Given the description of an element on the screen output the (x, y) to click on. 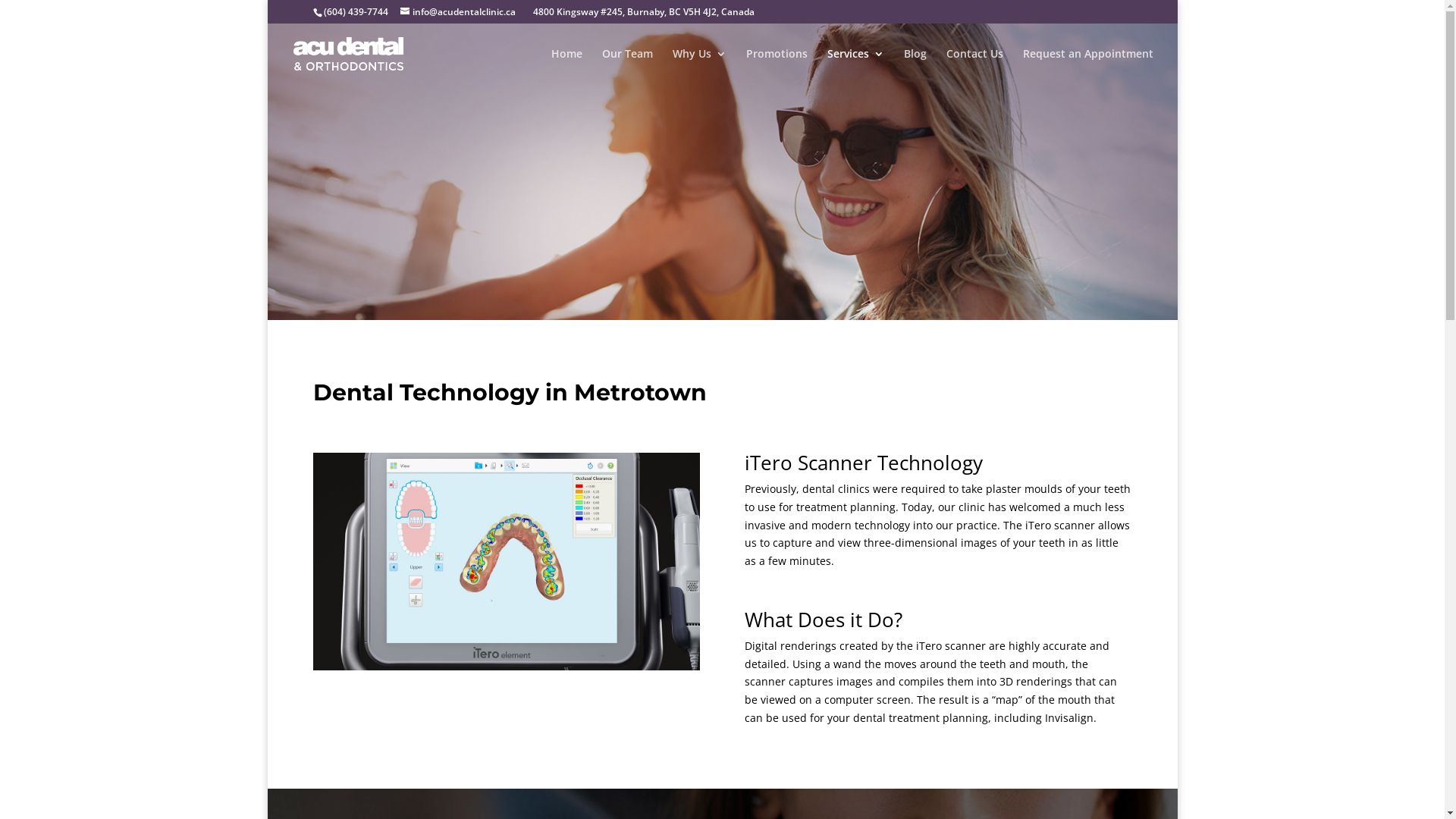
Our Team Element type: text (627, 66)
4800 Kingsway #245, Burnaby, BC V5H 4J2, Canada Element type: text (642, 11)
info@acudentalclinic.ca Element type: text (457, 11)
Request an Appointment Element type: text (1087, 66)
Contact Us Element type: text (974, 66)
(604) 439-7744 Element type: text (354, 11)
Home Element type: text (565, 66)
Promotions Element type: text (776, 66)
Why Us Element type: text (698, 66)
Blog Element type: text (914, 66)
itero-image-2 Element type: hover (505, 561)
Services Element type: text (854, 66)
